Given the description of an element on the screen output the (x, y) to click on. 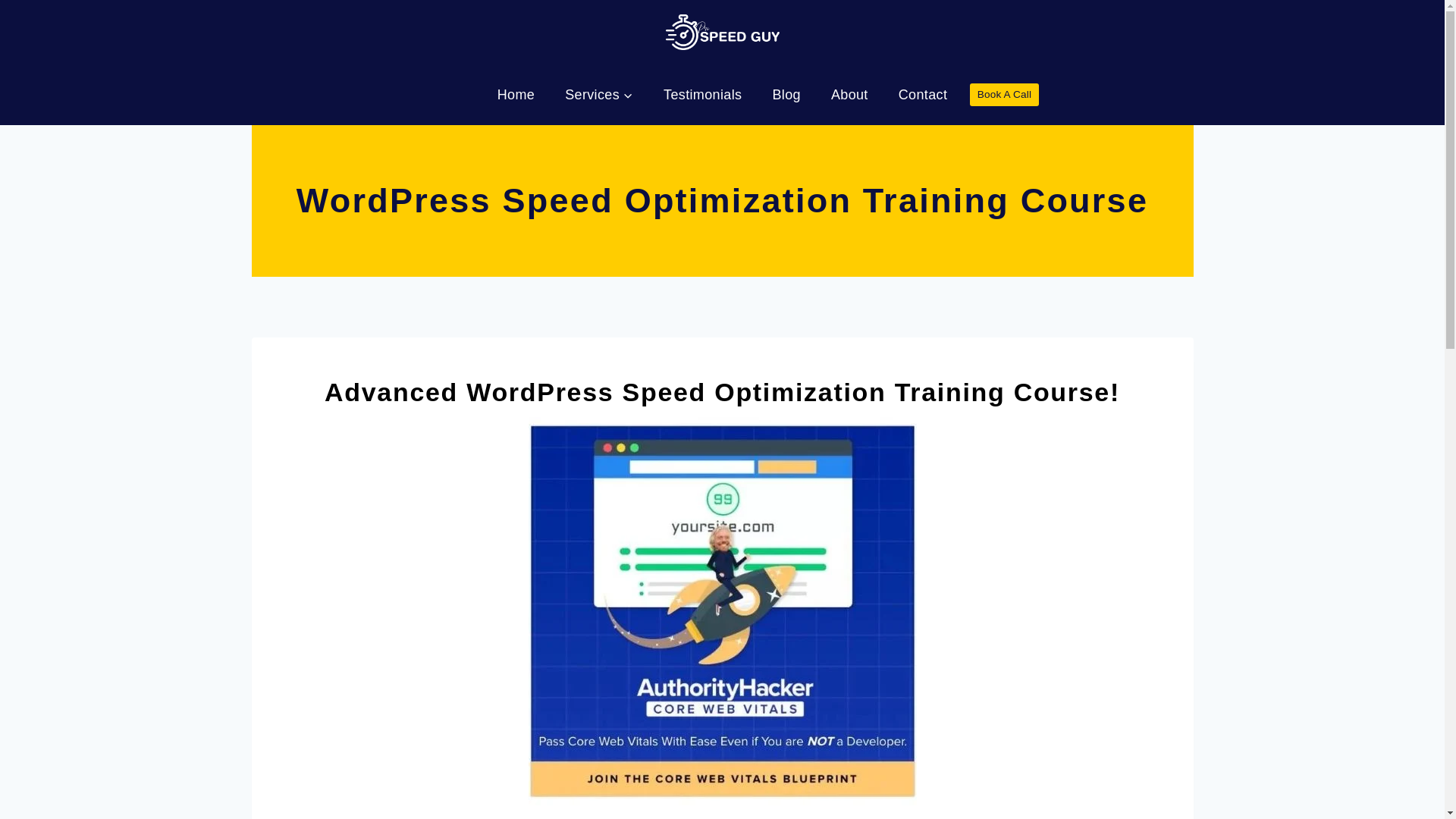
Testimonials (702, 94)
Book A Call (1003, 94)
Blog (786, 94)
About (849, 94)
Services (598, 94)
Home (515, 94)
Contact (922, 94)
